Given the description of an element on the screen output the (x, y) to click on. 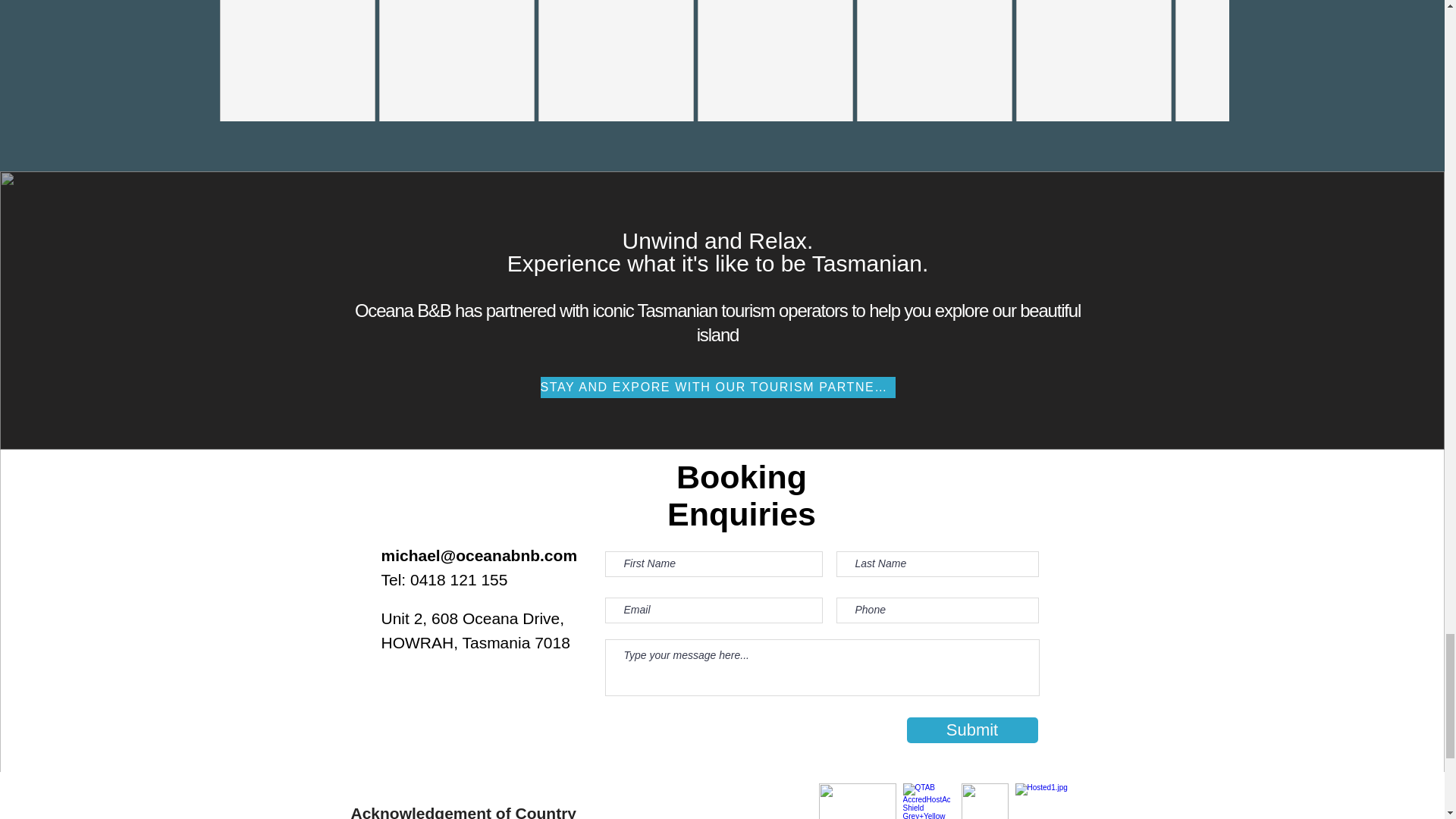
Highly Commended 2022.png (984, 800)
Destination Southern Tasmania logo (857, 800)
STAY AND EXPORE WITH OUR TOURISM PARTNERS (717, 387)
Tel: 0418 121 155 (443, 579)
Submit (972, 729)
